Given the description of an element on the screen output the (x, y) to click on. 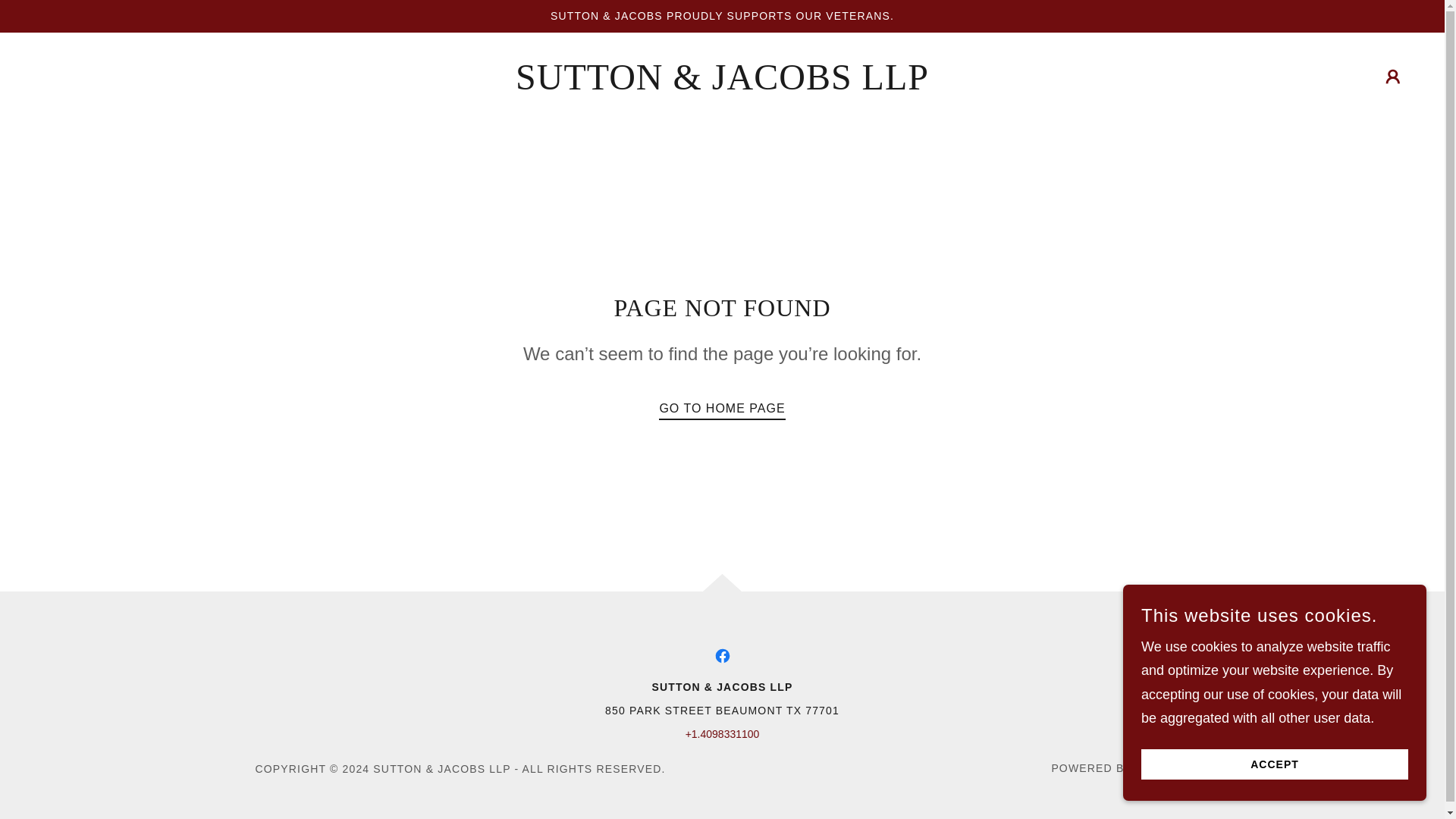
ACCEPT (1274, 764)
GO TO HOME PAGE (721, 404)
GODADDY (1162, 767)
